Given the description of an element on the screen output the (x, y) to click on. 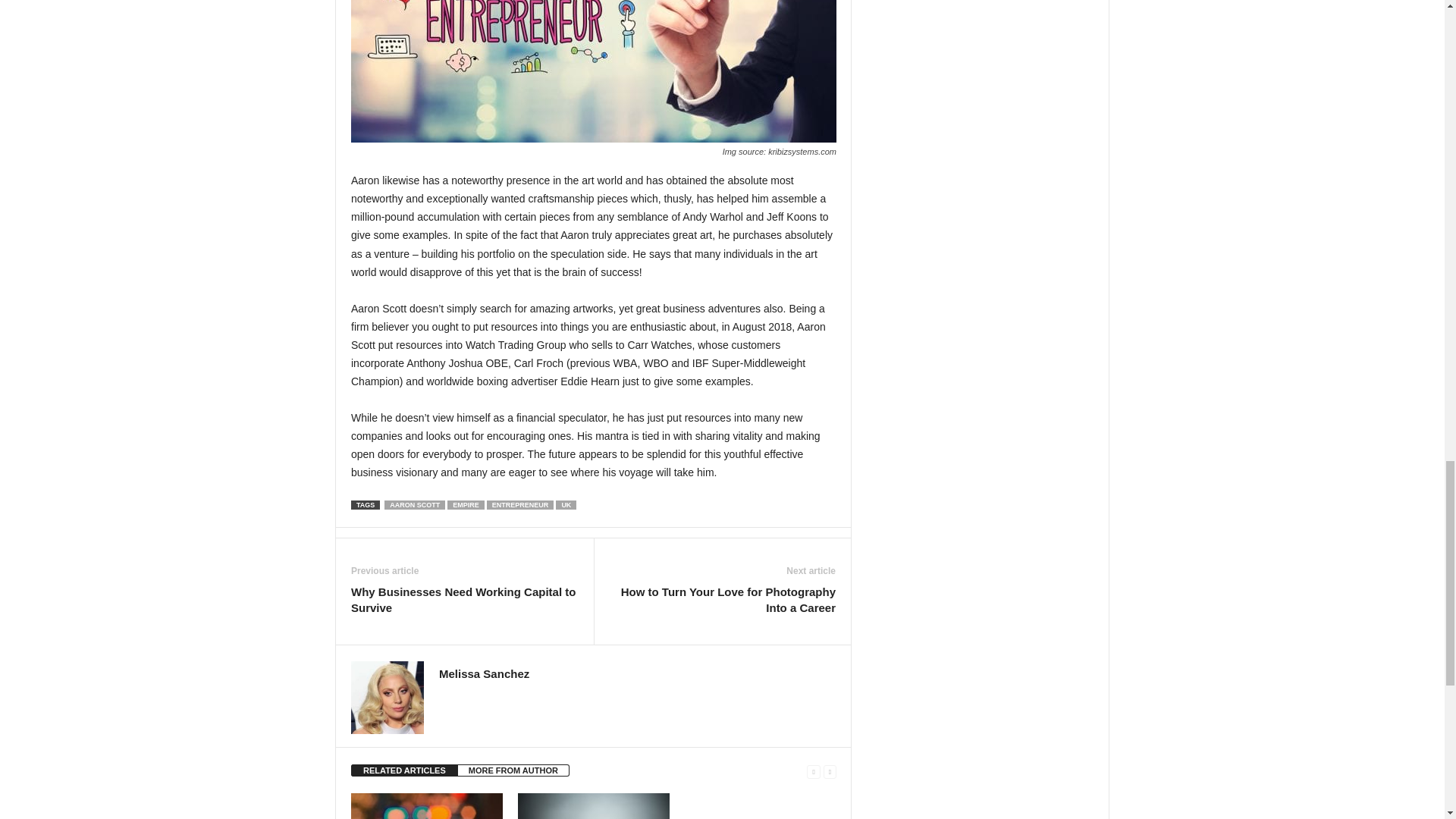
Why Businesses Need Working Capital to Survive (464, 599)
RELATED ARTICLES (404, 770)
EMPIRE (465, 504)
UK (566, 504)
Melissa Sanchez (484, 673)
How to Turn Your Love for Photography Into a Career (721, 599)
AARON SCOTT (414, 504)
MORE FROM AUTHOR (513, 770)
ENTREPRENEUR (520, 504)
Different options to finance property in the UK (593, 806)
12 Banking Deaths in 1 Month Most Linked to Monetary Policy (426, 806)
